Given the description of an element on the screen output the (x, y) to click on. 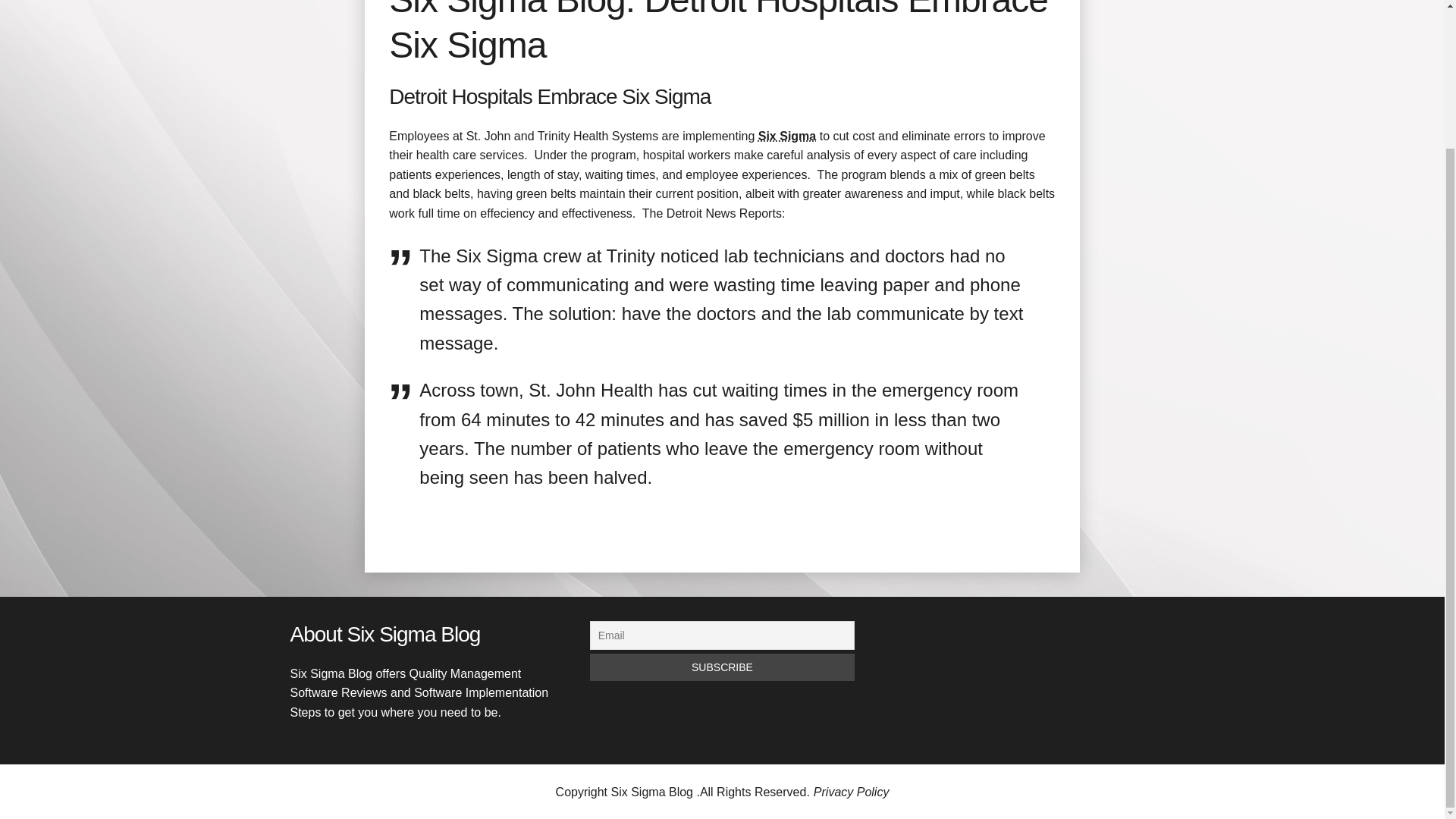
Subscribe (722, 666)
Privacy Policy (851, 792)
Six Sigma (786, 135)
Subscribe (722, 666)
